Given the description of an element on the screen output the (x, y) to click on. 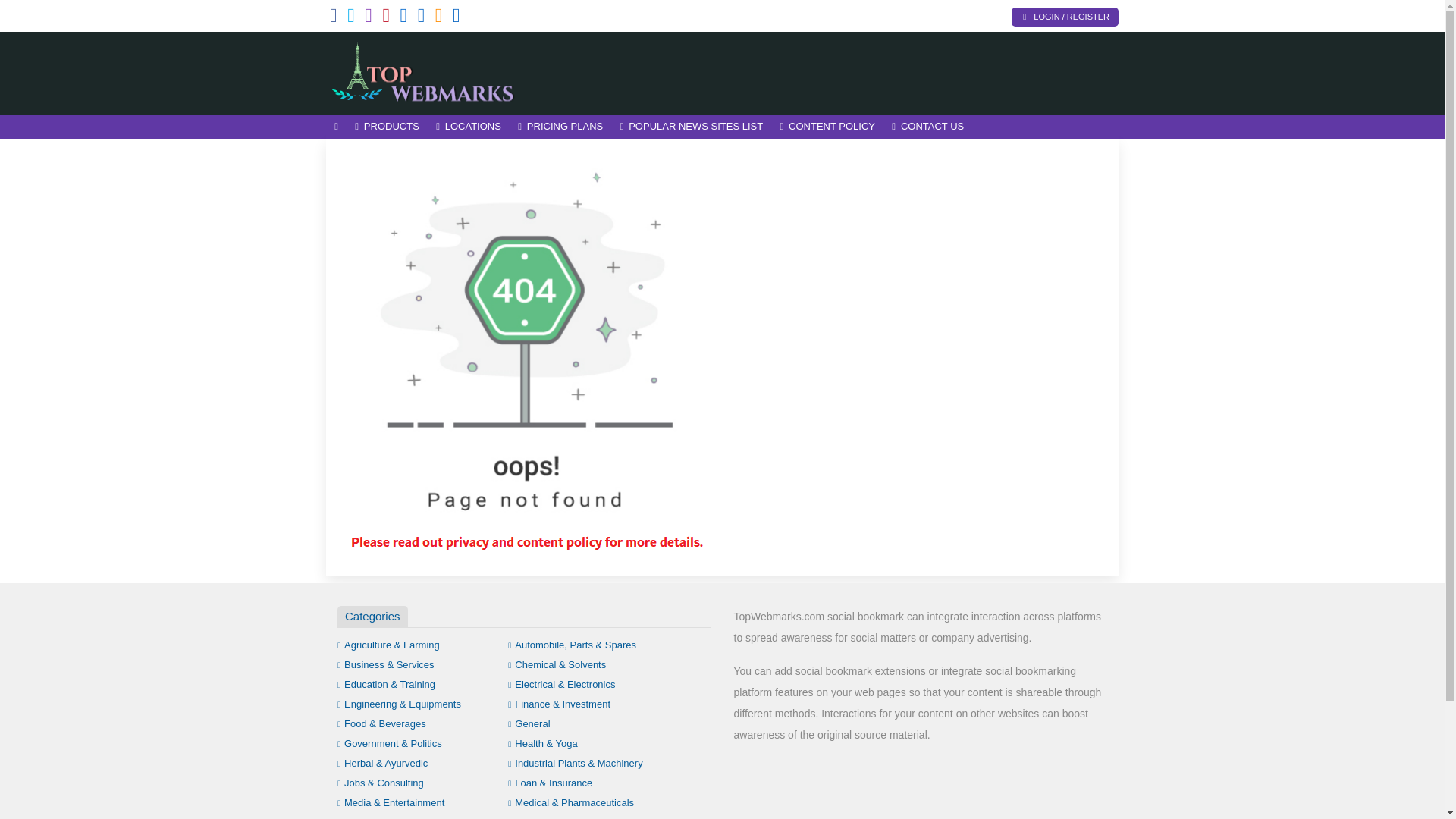
General (529, 723)
CONTACT US (927, 126)
PRICING PLANS (560, 126)
POPULAR NEWS SITES LIST (691, 126)
LOCATIONS (468, 126)
PRODUCTS (387, 126)
CONTENT POLICY (827, 126)
